Given the description of an element on the screen output the (x, y) to click on. 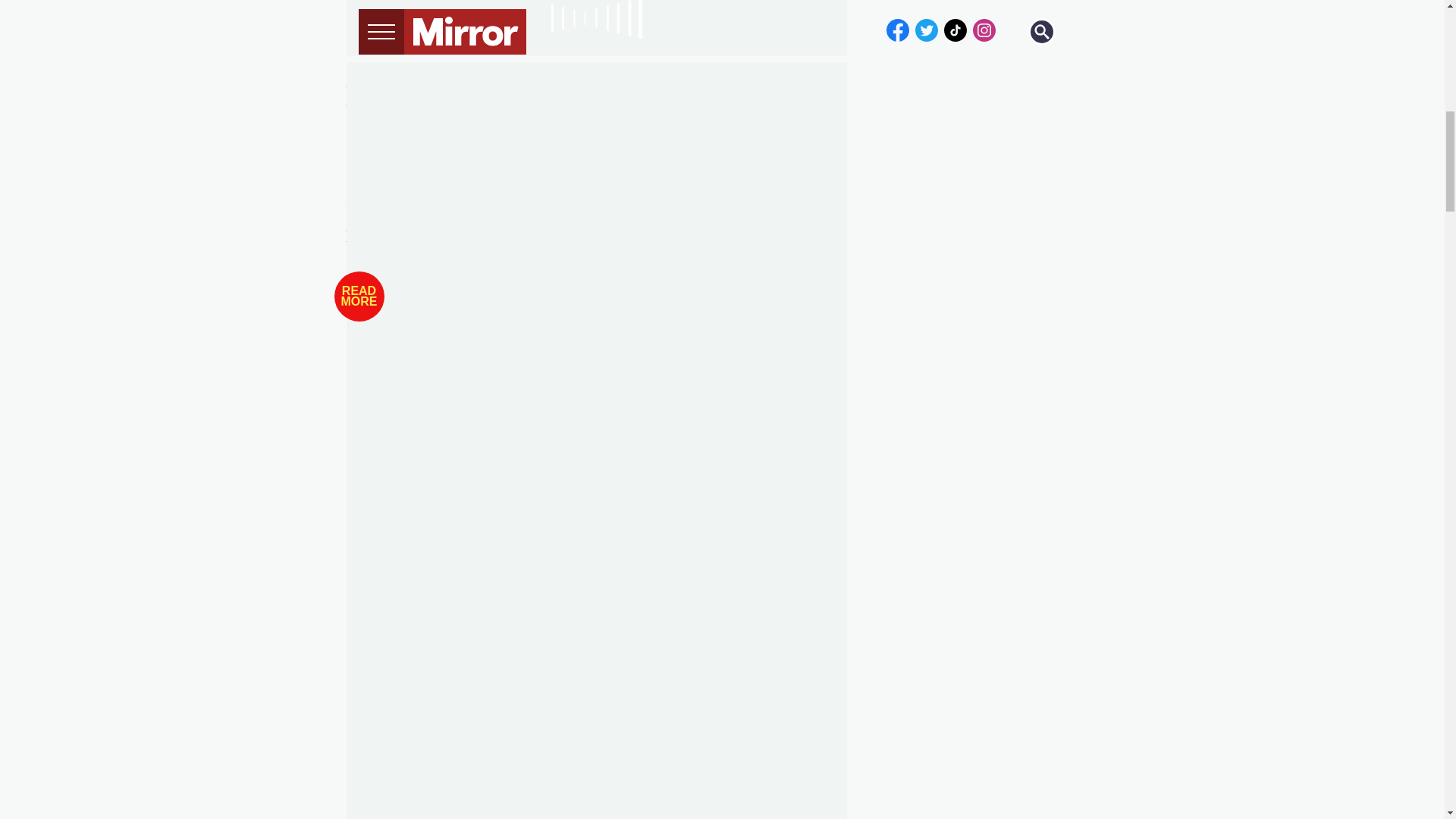
TikTok (420, 206)
hair (433, 88)
viral (395, 770)
